Given the description of an element on the screen output the (x, y) to click on. 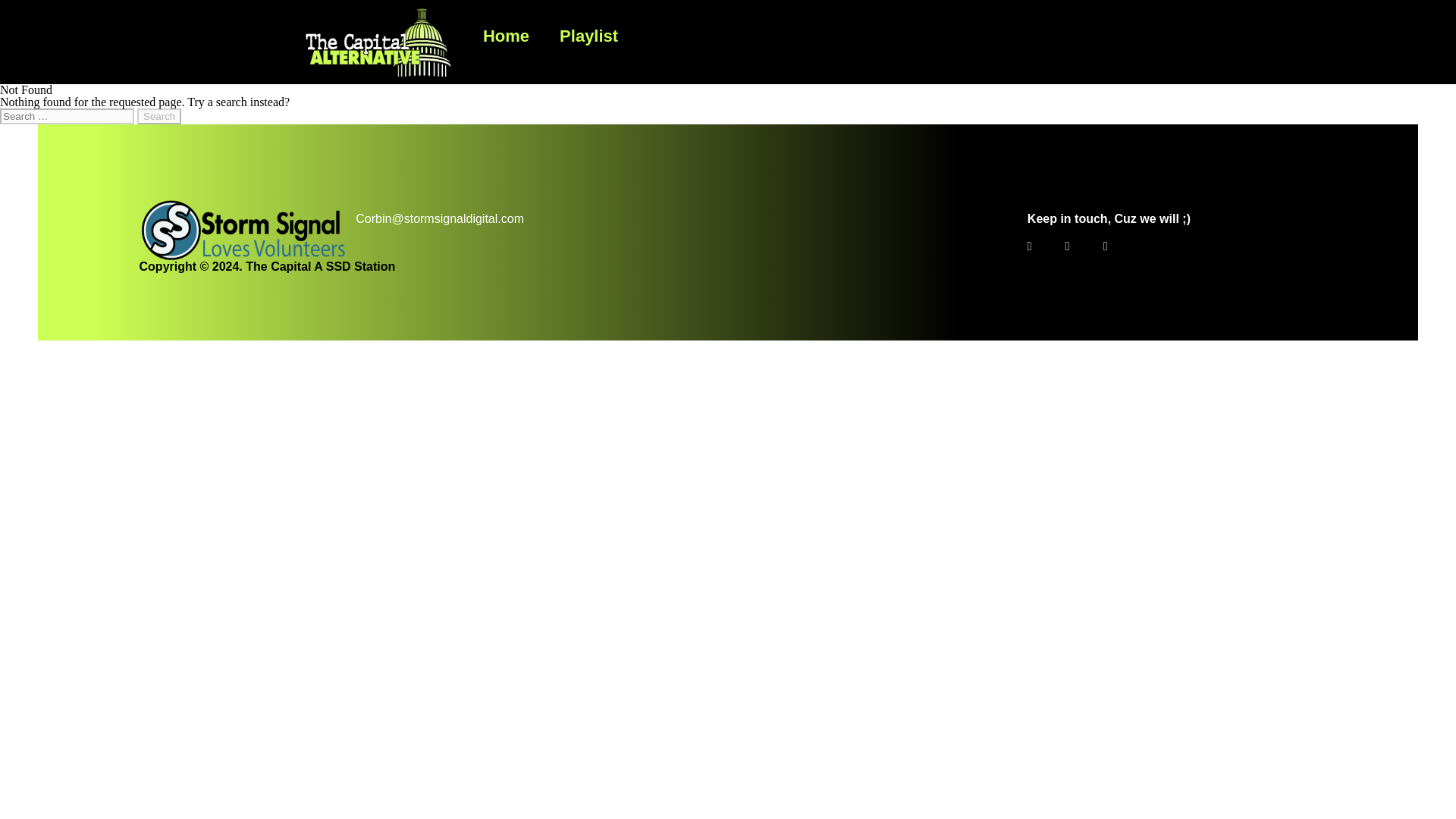
Playlist (588, 36)
Search (158, 116)
Search (158, 116)
Search (158, 116)
thecapnoslogan (377, 41)
Home (505, 36)
